Given the description of an element on the screen output the (x, y) to click on. 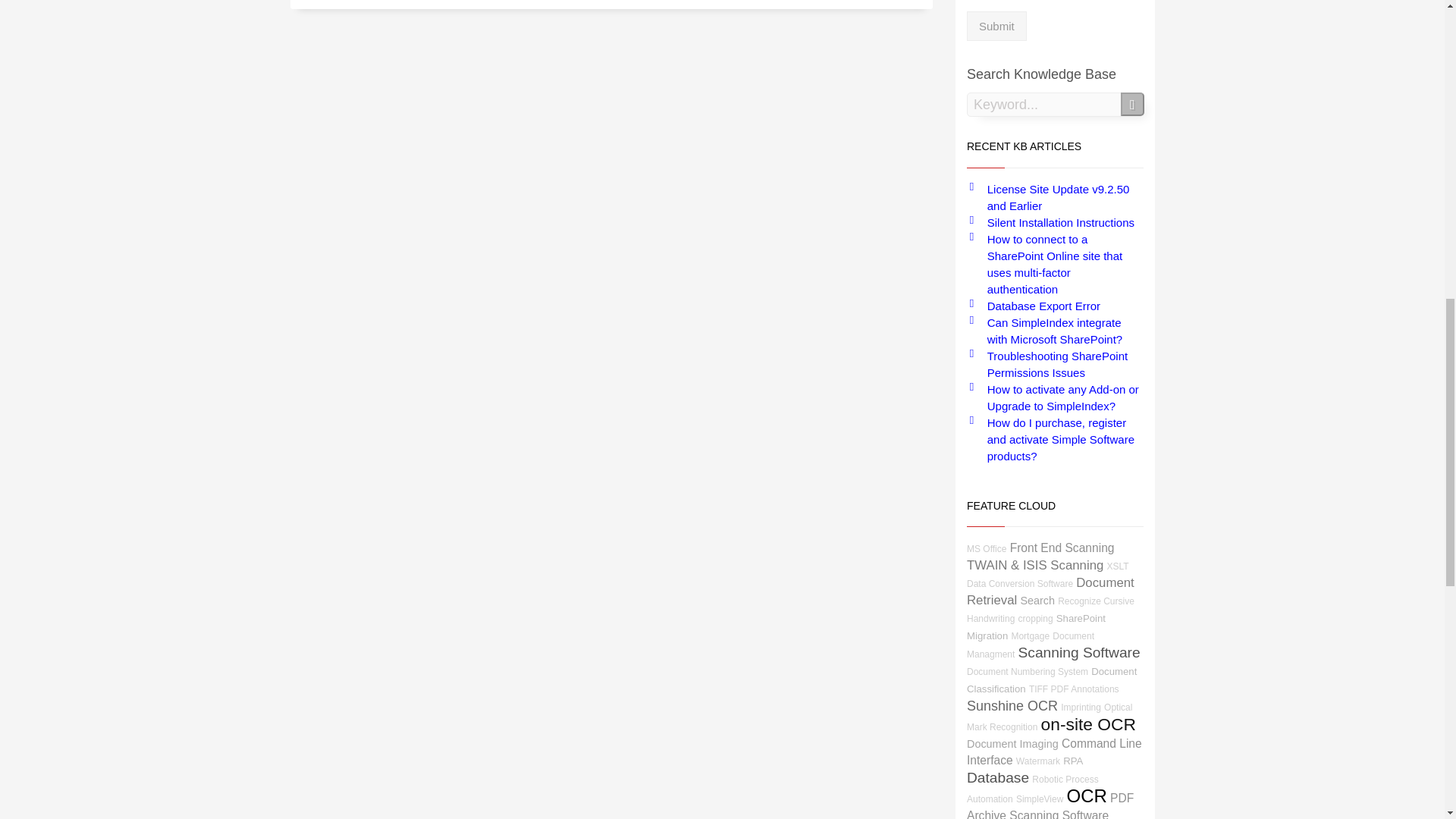
4 topics (1050, 610)
1 topics (1029, 635)
14 topics (1062, 547)
19 topics (1034, 564)
1 topics (1030, 645)
1 topics (1047, 574)
4 topics (986, 548)
9 topics (1035, 626)
13 topics (1037, 600)
1 topics (1034, 618)
